Given the description of an element on the screen output the (x, y) to click on. 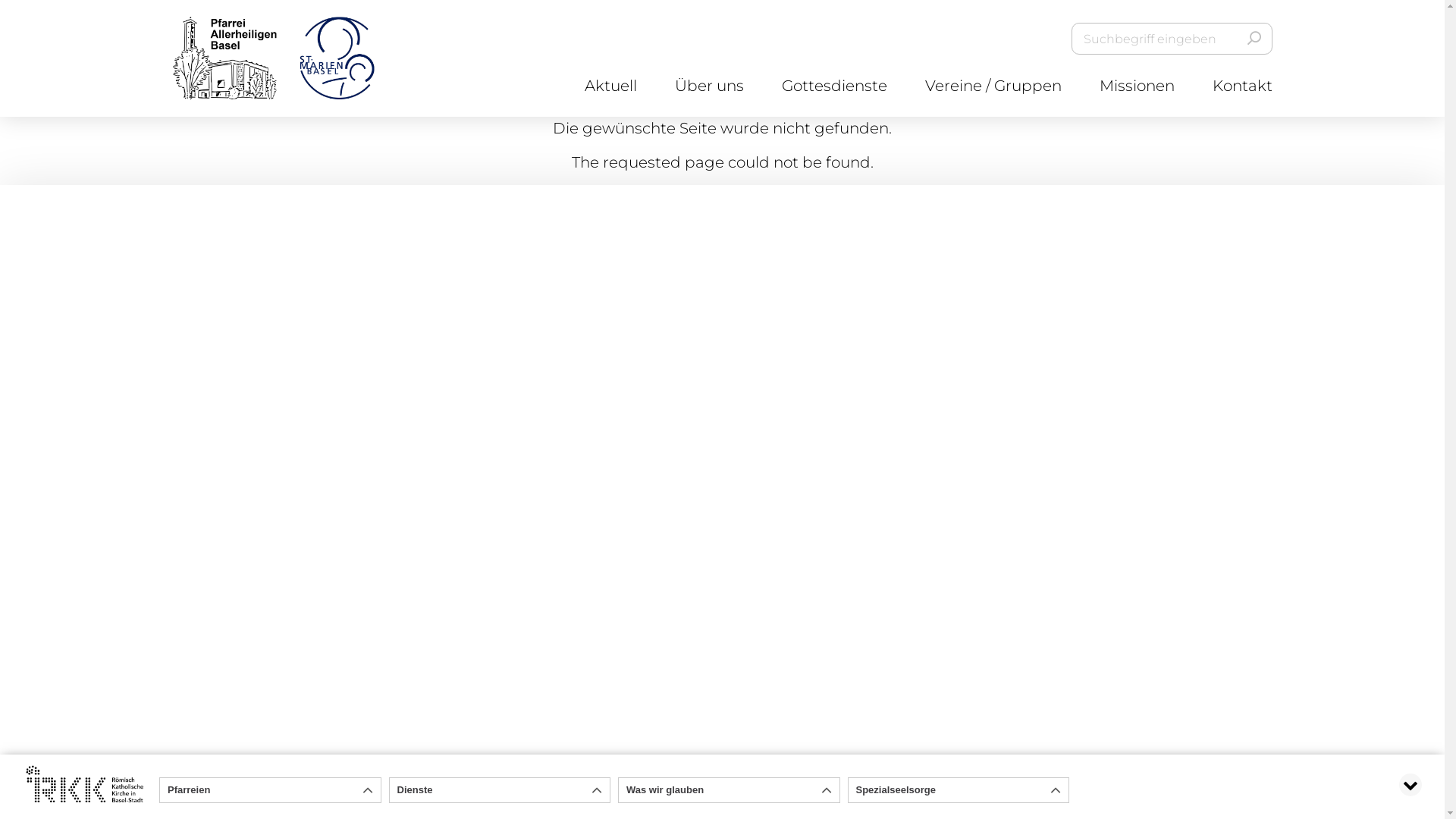
Pfarreien Element type: text (270, 790)
Missionen Element type: text (1136, 85)
Aktuell Element type: text (609, 85)
Dienste Element type: text (499, 790)
Footer ein/ausblenden Element type: hover (1410, 784)
Gottesdienste Element type: text (833, 85)
Vereine / Gruppen Element type: text (993, 85)
Kontakt Element type: text (1241, 85)
Spezialseelsorge Element type: text (957, 790)
Was wir glauben Element type: text (728, 790)
